Given the description of an element on the screen output the (x, y) to click on. 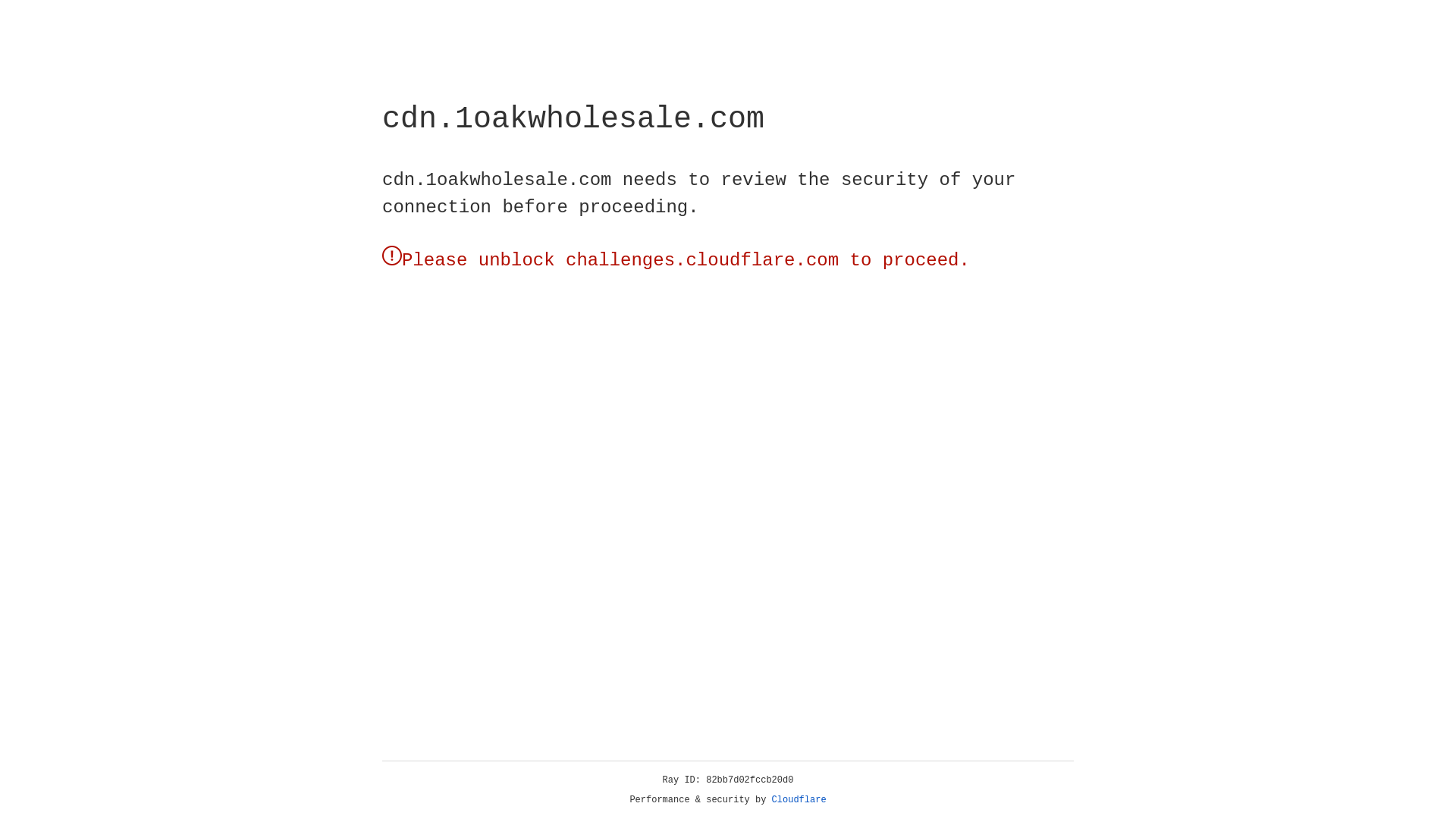
Cloudflare Element type: text (798, 799)
